Given the description of an element on the screen output the (x, y) to click on. 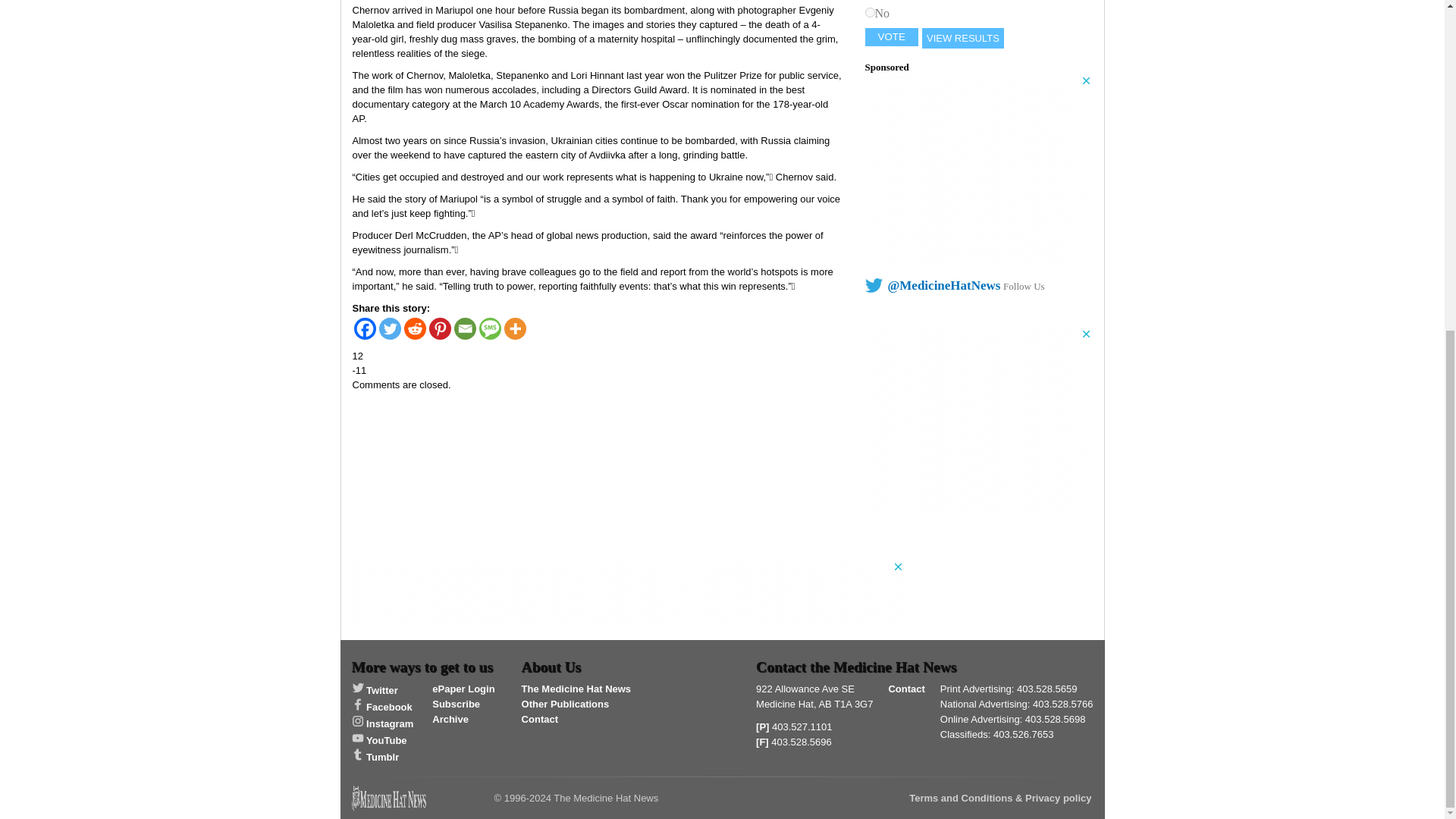
3rd party ad content (978, 421)
Facebook (382, 706)
Facebook (364, 328)
Twitter (389, 328)
VIEW RESULTS (962, 37)
9194 (869, 12)
More (514, 328)
Email (464, 328)
Pinterest (440, 328)
View Results Of This Poll (962, 37)
Reddit (414, 328)
3rd party ad content (628, 594)
   Vote    (891, 36)
Twitter (374, 690)
SMS (489, 328)
